Given the description of an element on the screen output the (x, y) to click on. 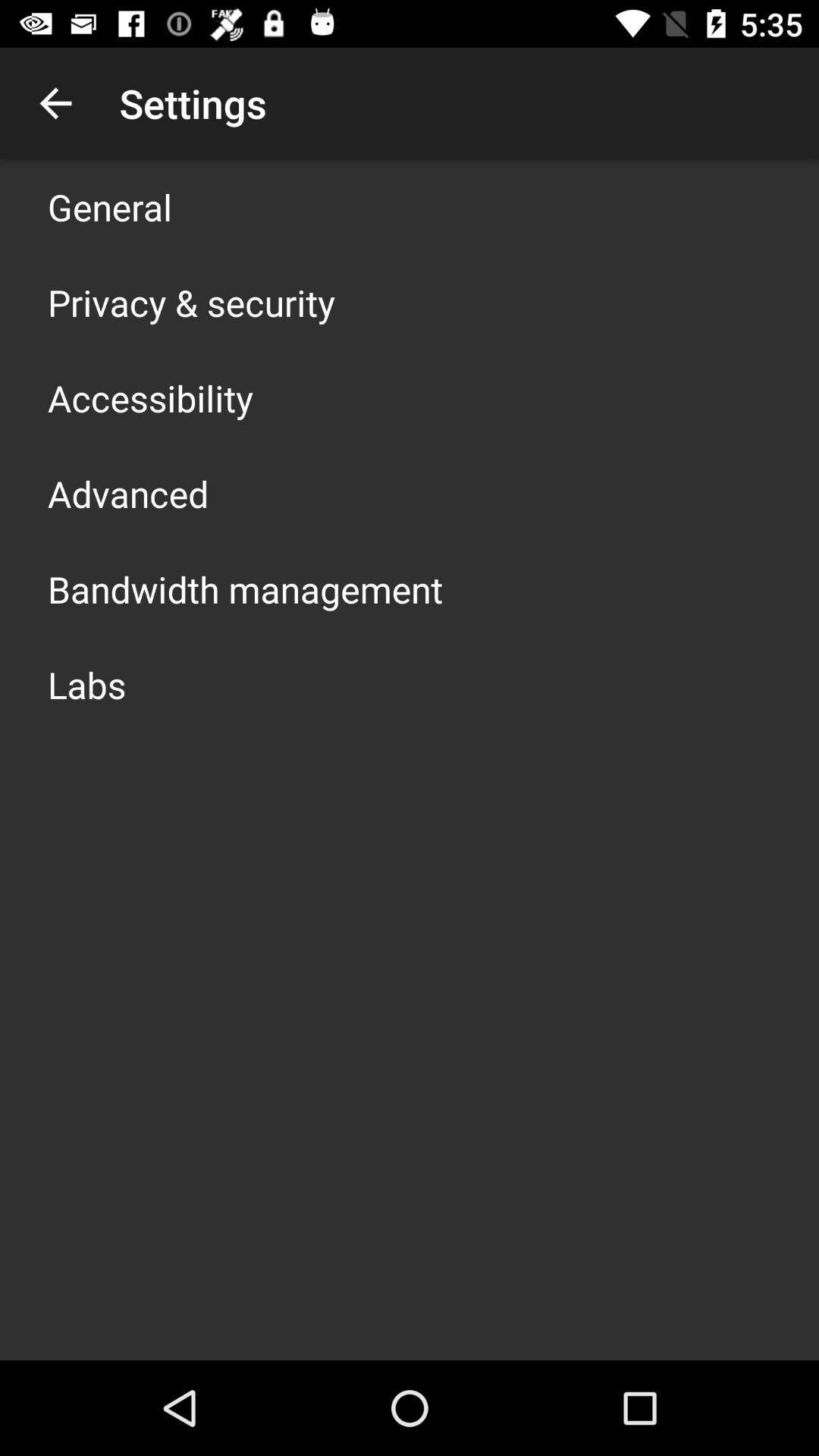
turn off the accessibility icon (150, 397)
